Given the description of an element on the screen output the (x, y) to click on. 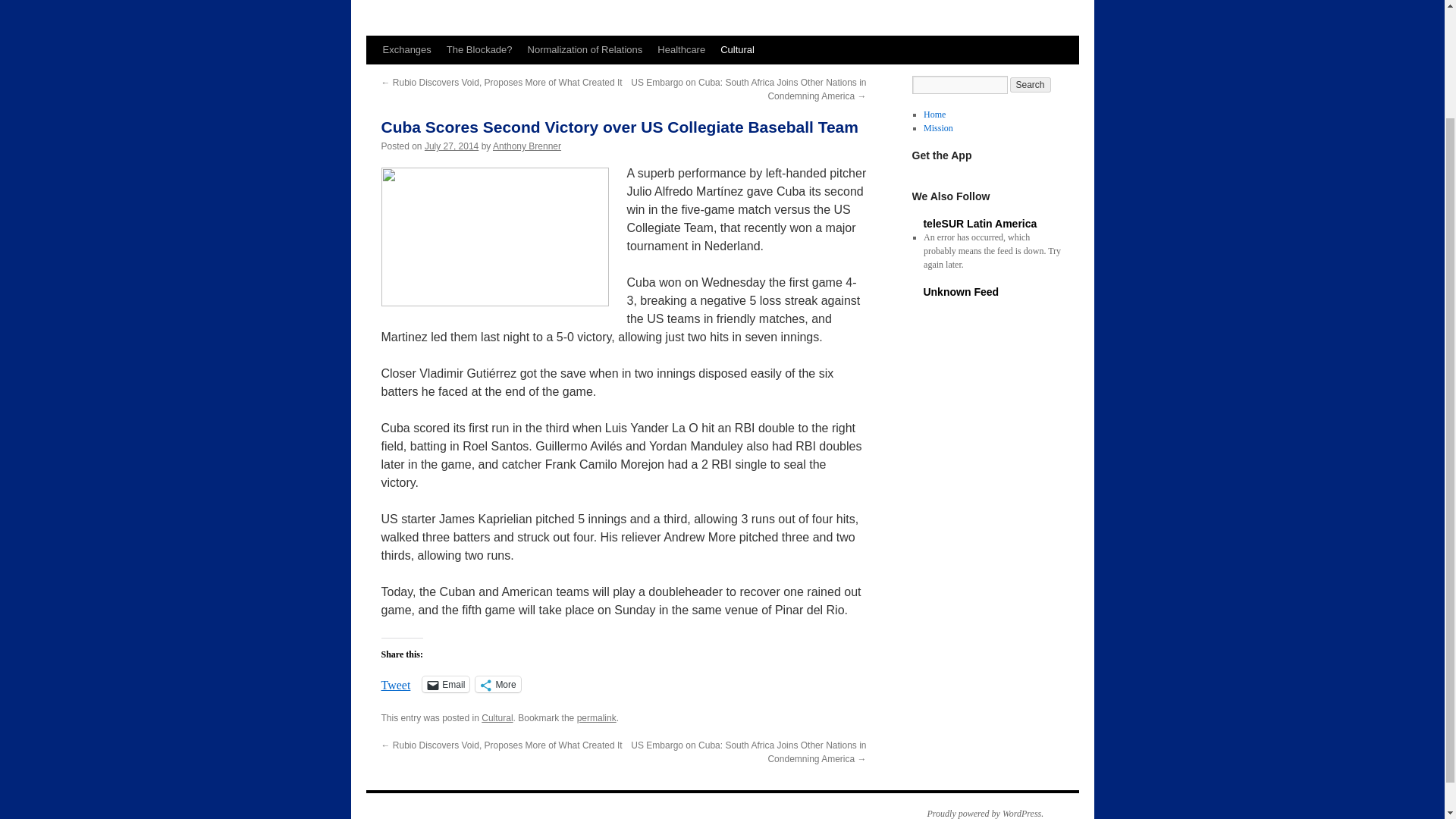
teleSUR Latin America (979, 223)
Search (1030, 84)
Cultural (737, 50)
Tweet (395, 683)
More (497, 684)
July 27, 2014 (452, 145)
5:00 pm (452, 145)
Normalization of Relations (584, 50)
permalink (595, 717)
